Given the description of an element on the screen output the (x, y) to click on. 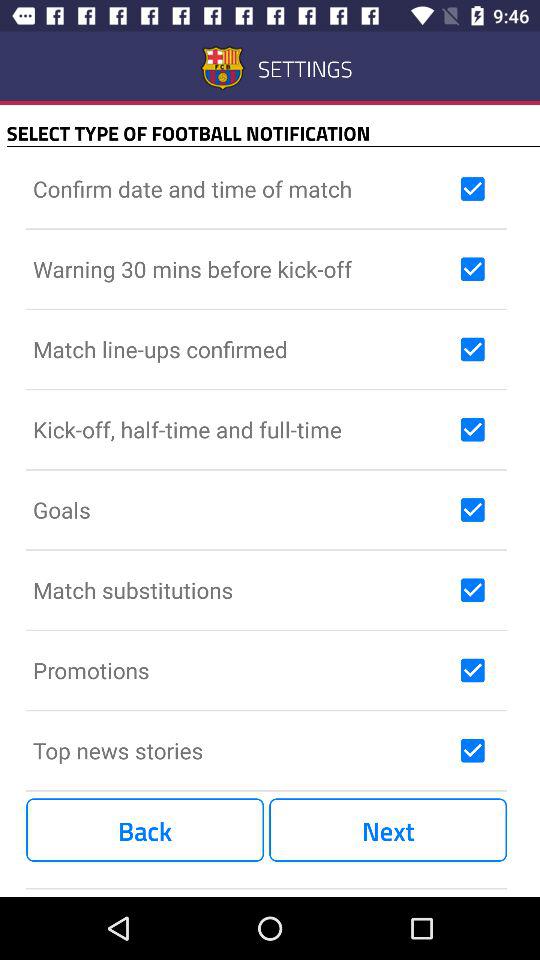
swipe until select type of icon (273, 132)
